Given the description of an element on the screen output the (x, y) to click on. 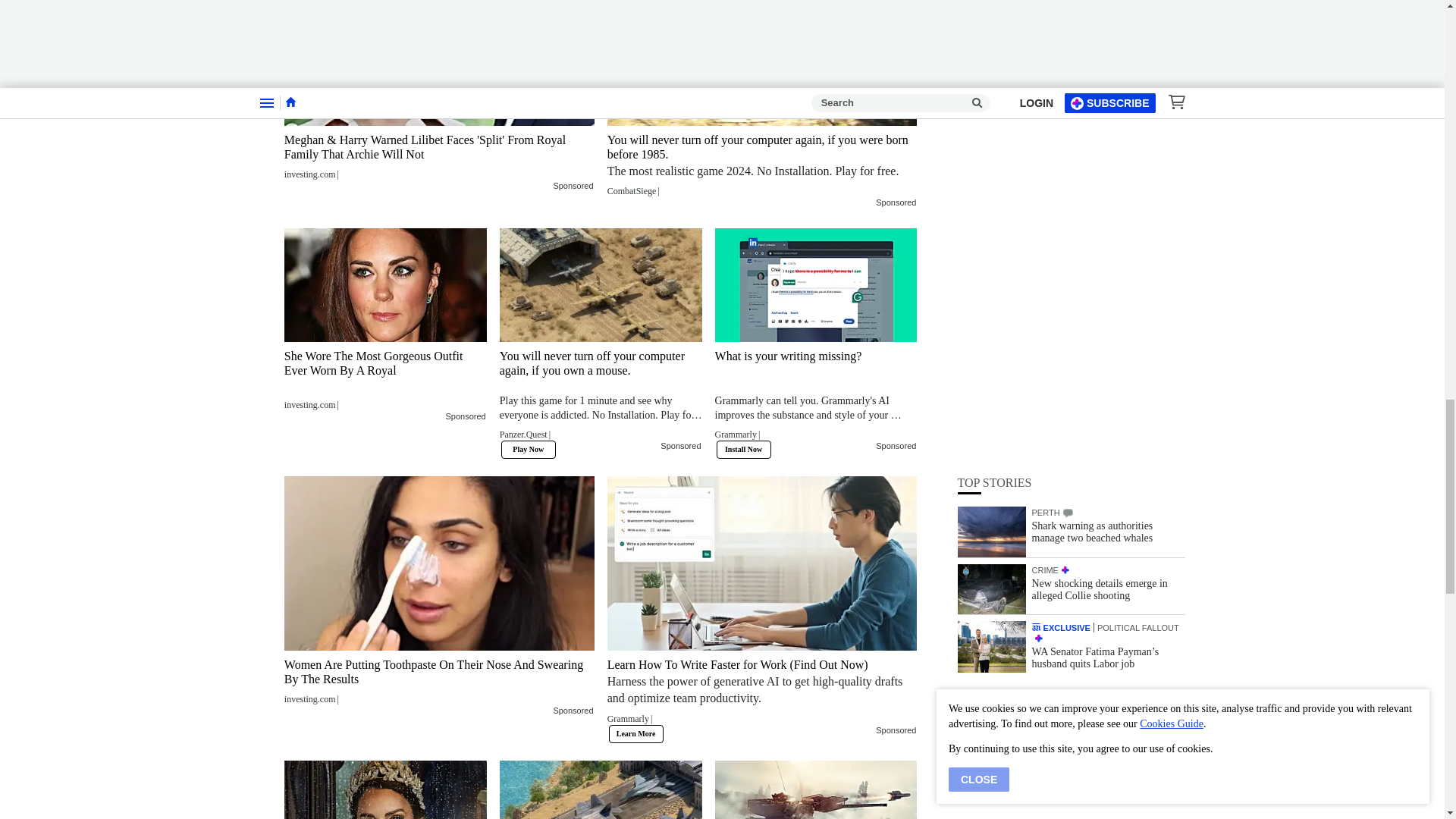
She Wore The Most Gorgeous Outfit Ever Worn By A Royal (384, 379)
She Wore The Most Gorgeous Outfit Ever Worn By A Royal (384, 285)
